Given the description of an element on the screen output the (x, y) to click on. 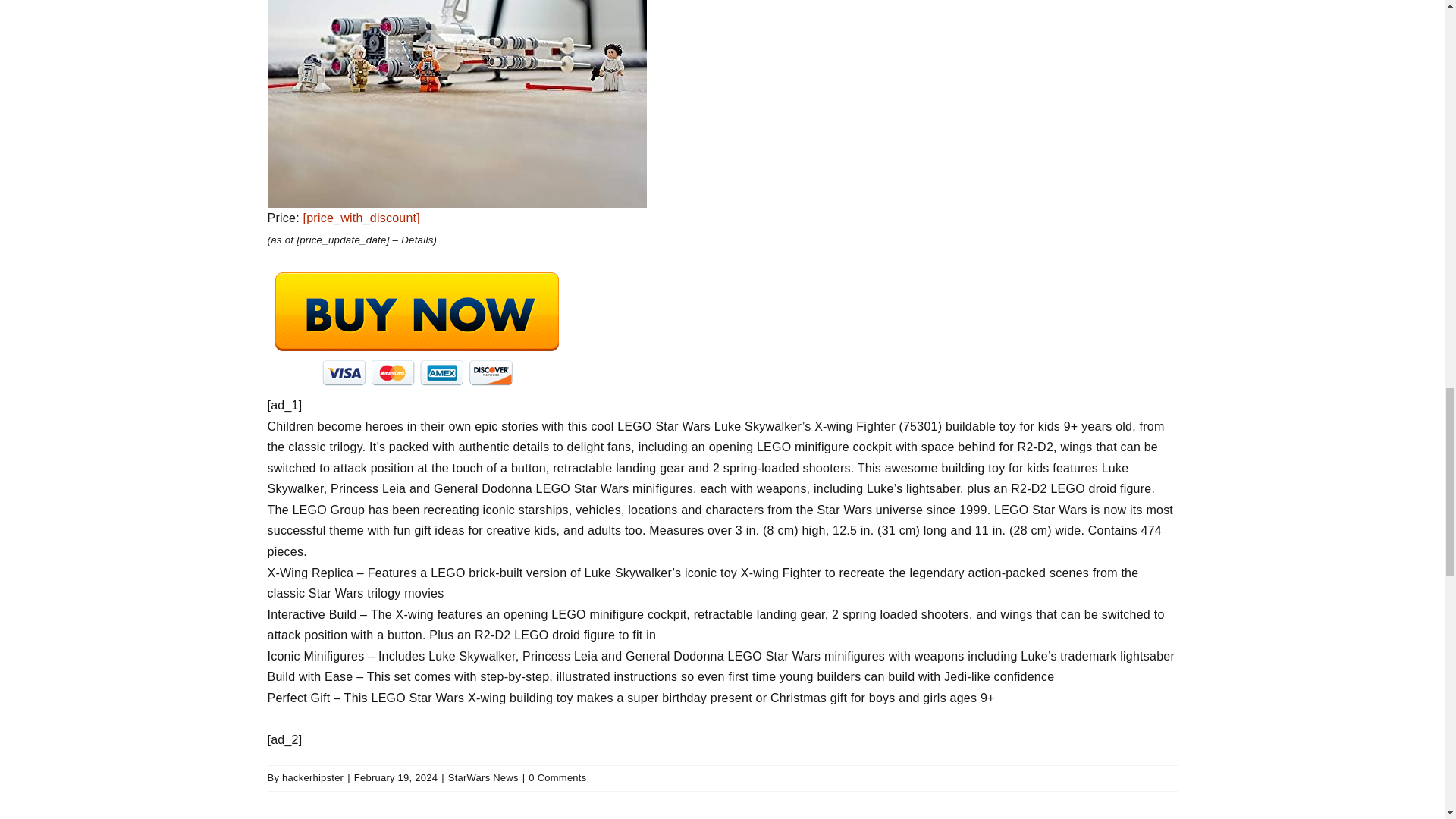
hackerhipster (312, 777)
StarWars News (483, 777)
0 Comments (557, 777)
Posts by hackerhipster (312, 777)
